Given the description of an element on the screen output the (x, y) to click on. 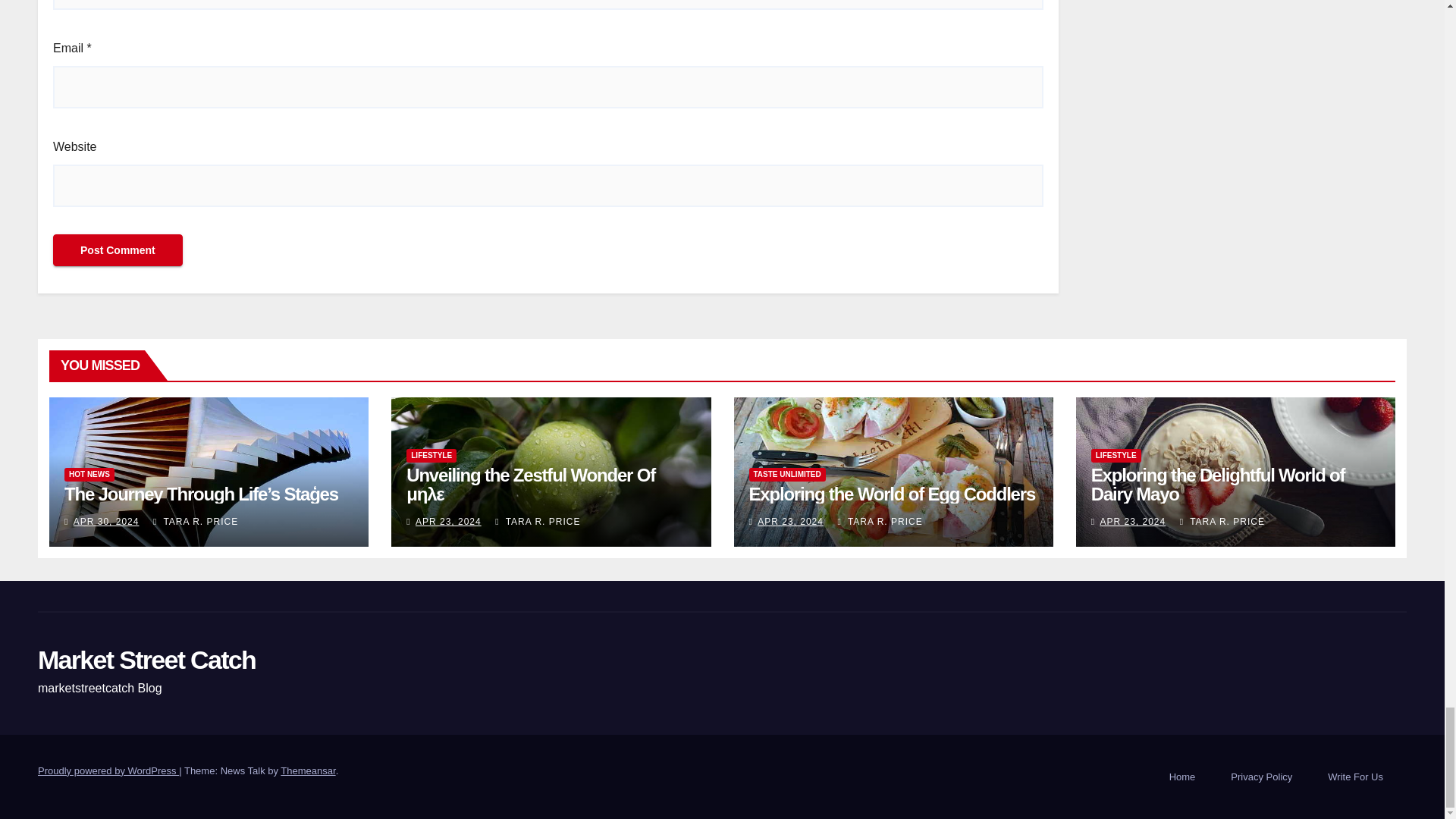
Home (1182, 776)
Permalink to: Exploring the World of Egg Coddlers (892, 494)
Permalink to: Exploring the Delightful World of Dairy Mayo (1217, 484)
Post Comment (117, 250)
